Given the description of an element on the screen output the (x, y) to click on. 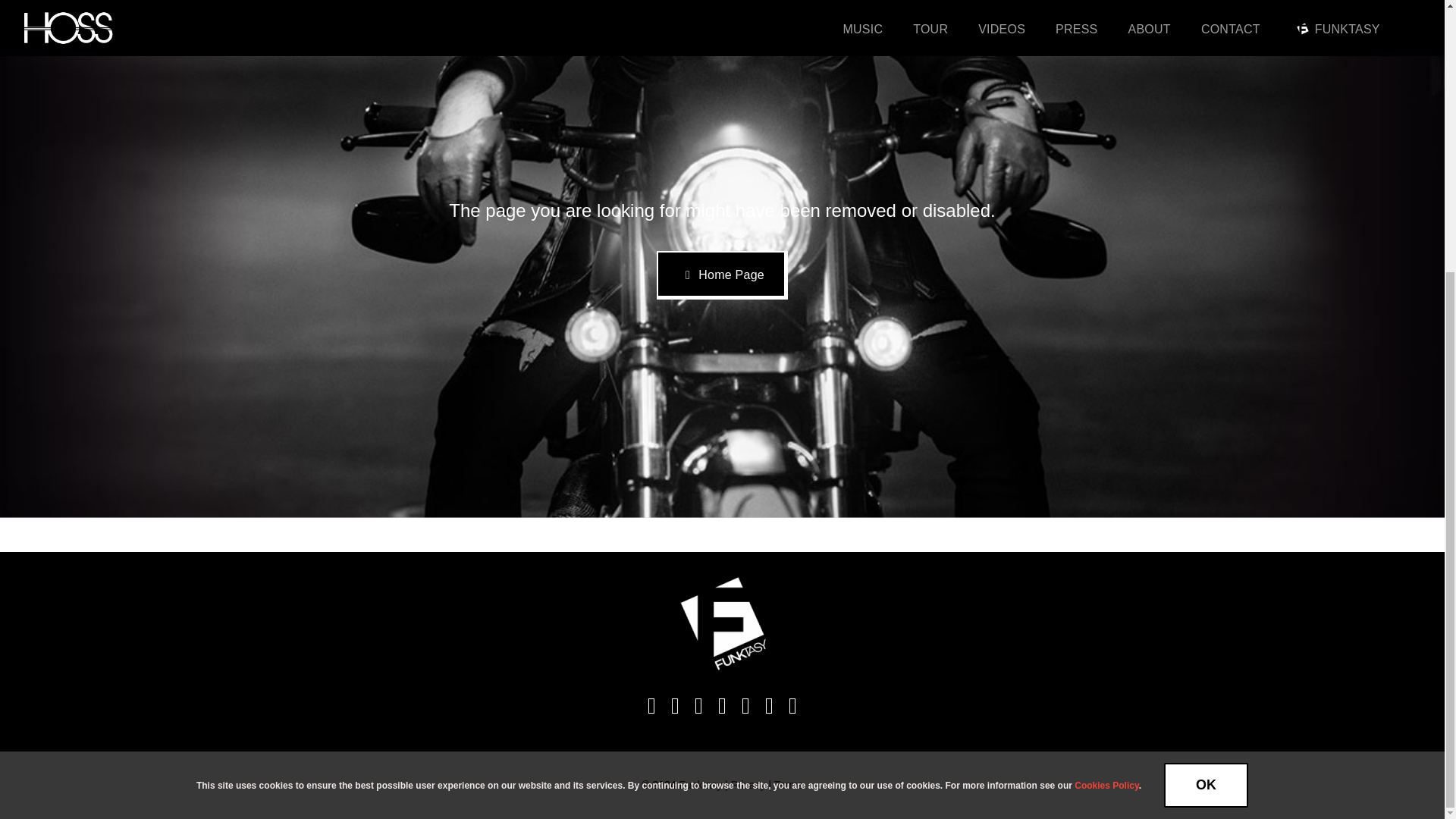
Funktasy (699, 784)
Cookies Policy (1106, 385)
Home Page (721, 274)
Terms (788, 784)
Privacy (747, 784)
